Given the description of an element on the screen output the (x, y) to click on. 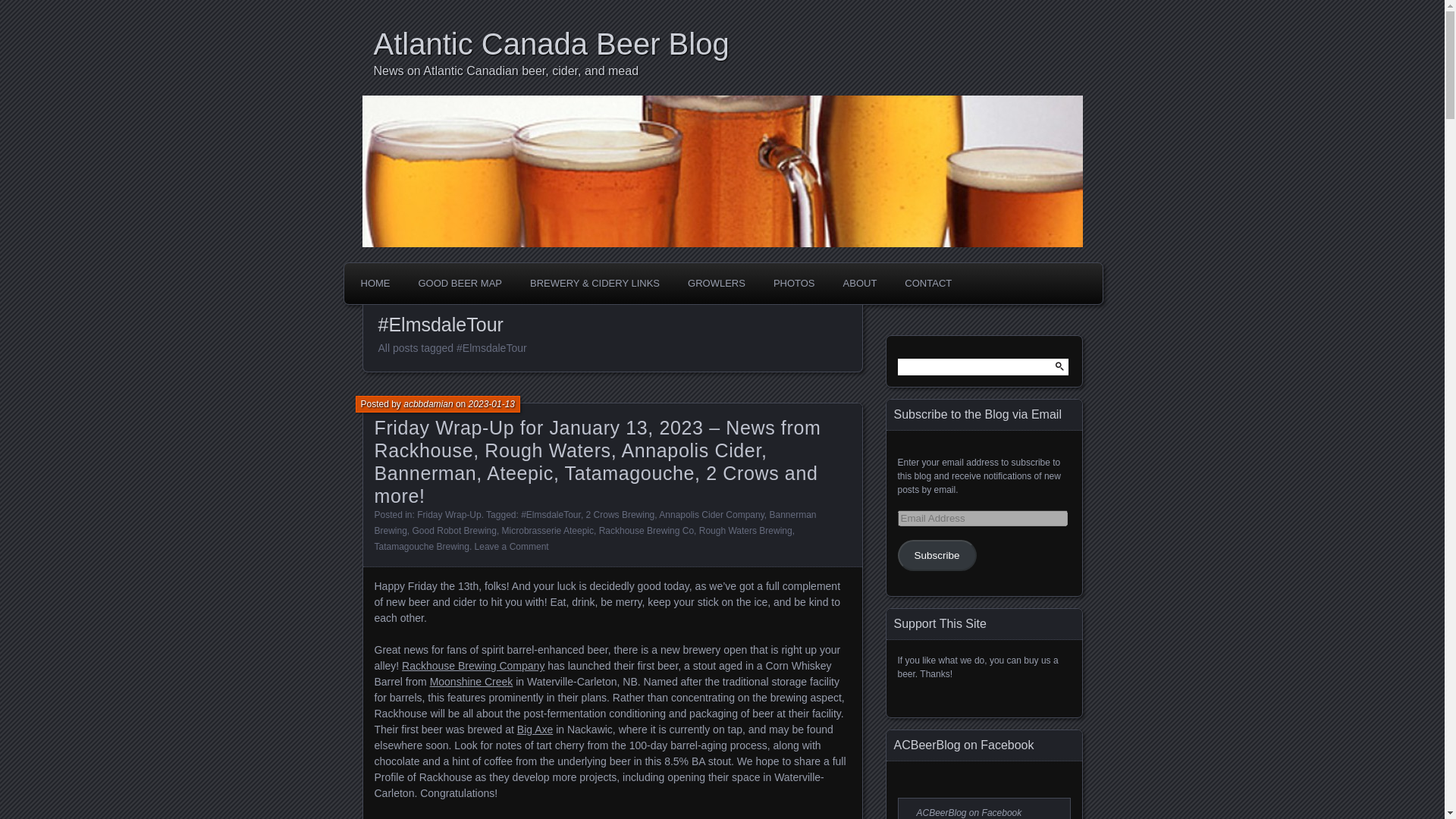
News on Atlantic Canadian beer, cider, and mead (726, 71)
Good Robot Brewing (454, 530)
2 Crows Brewing (620, 514)
Friday Wrap-Up (448, 514)
Microbrasserie Ateepic (548, 530)
View all posts by acbbdamian (427, 403)
Big Axe (534, 729)
Moonshine Creek (471, 681)
ABOUT (859, 283)
2023-01-13 (491, 403)
Leave a Comment (511, 546)
Rough Waters Brewing (745, 530)
Rackhouse Brewing Co (646, 530)
Bannerman Brewing (595, 522)
Rackhouse Brewing Company (472, 665)
